Given the description of an element on the screen output the (x, y) to click on. 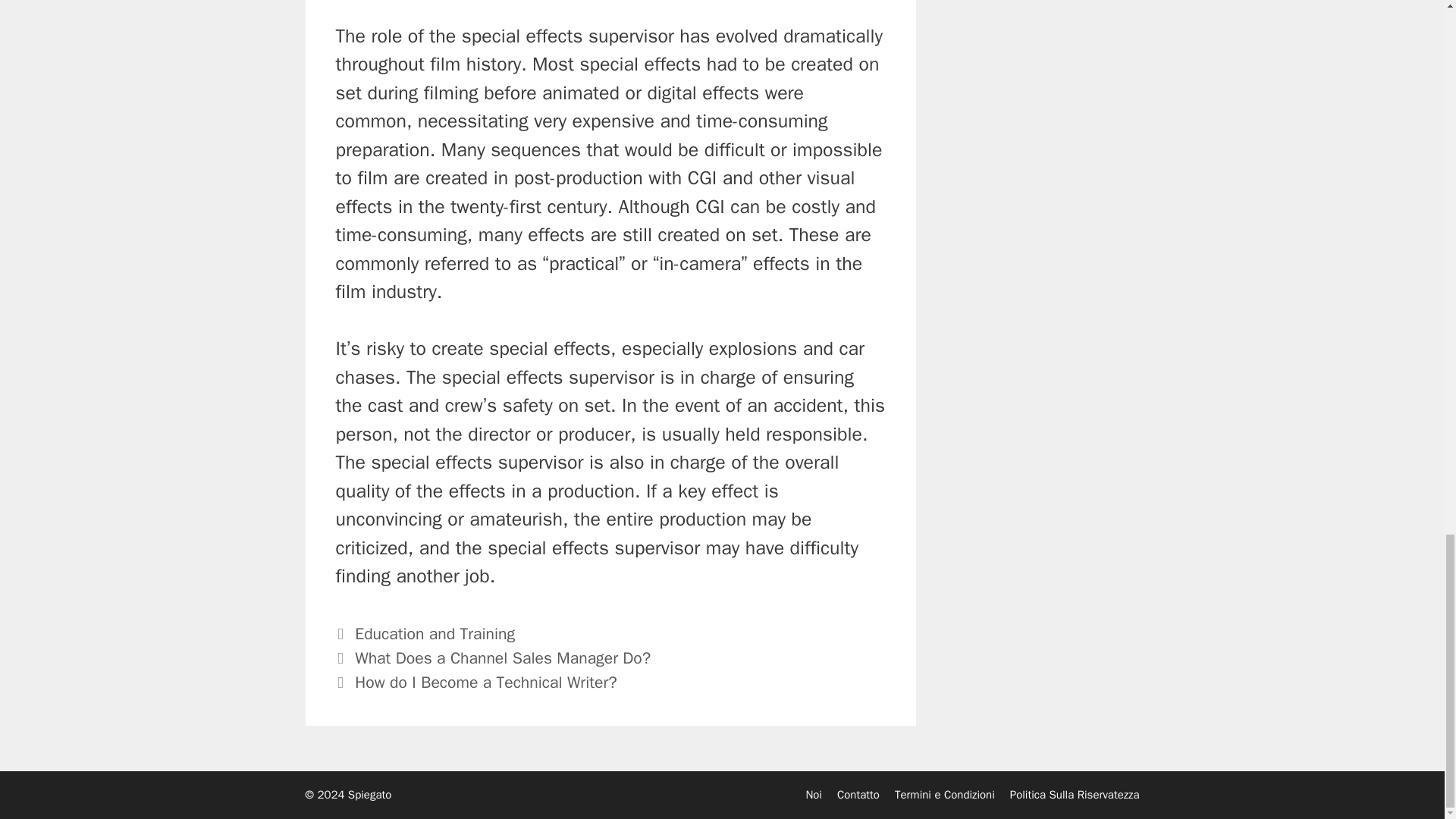
Politica Sulla Riservatezza (1075, 794)
Education and Training (435, 633)
Noi (813, 794)
How do I Become a Technical Writer? (485, 682)
What Does a Channel Sales Manager Do? (502, 658)
Contatto (858, 794)
Termini e Condizioni (944, 794)
